Given the description of an element on the screen output the (x, y) to click on. 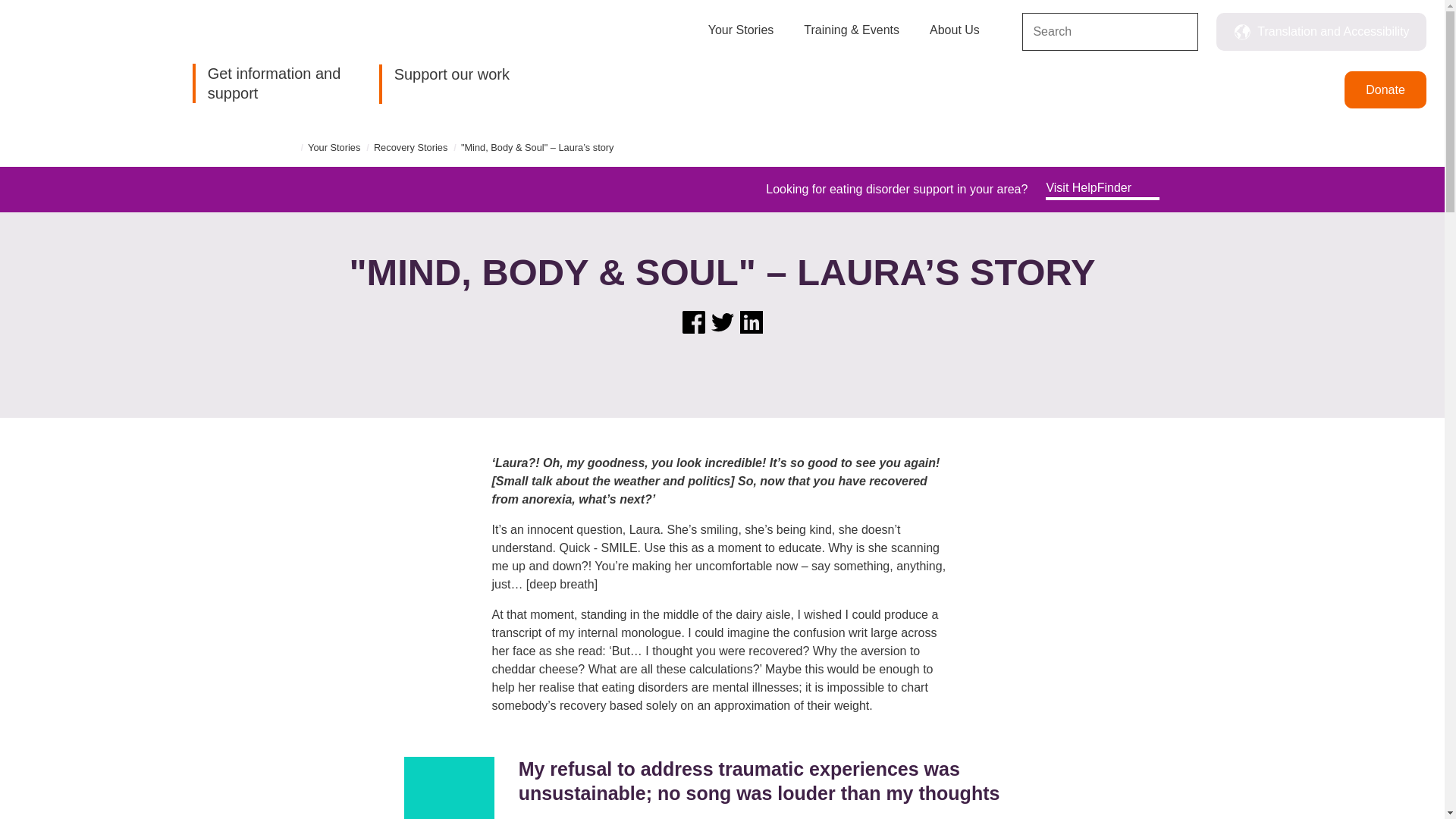
About Us (954, 37)
Your Stories (740, 37)
Home (72, 63)
Get information and support (271, 83)
Translation and Accessibility (1320, 31)
Search (1179, 33)
